Given the description of an element on the screen output the (x, y) to click on. 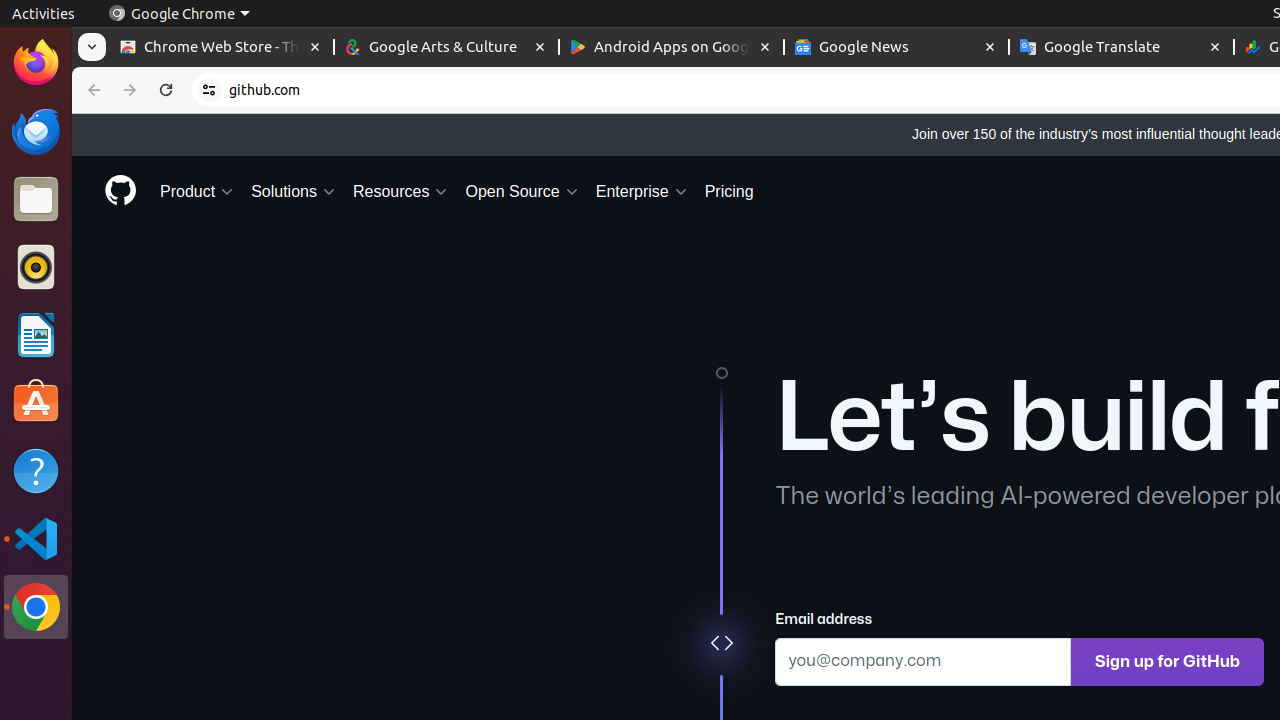
Android Apps on Google Play - Memory usage - 52.4 MB Element type: page-tab (671, 47)
Rhythmbox Element type: push-button (36, 267)
Reload Element type: push-button (166, 90)
Thunderbird Mail Element type: push-button (36, 131)
